Given the description of an element on the screen output the (x, y) to click on. 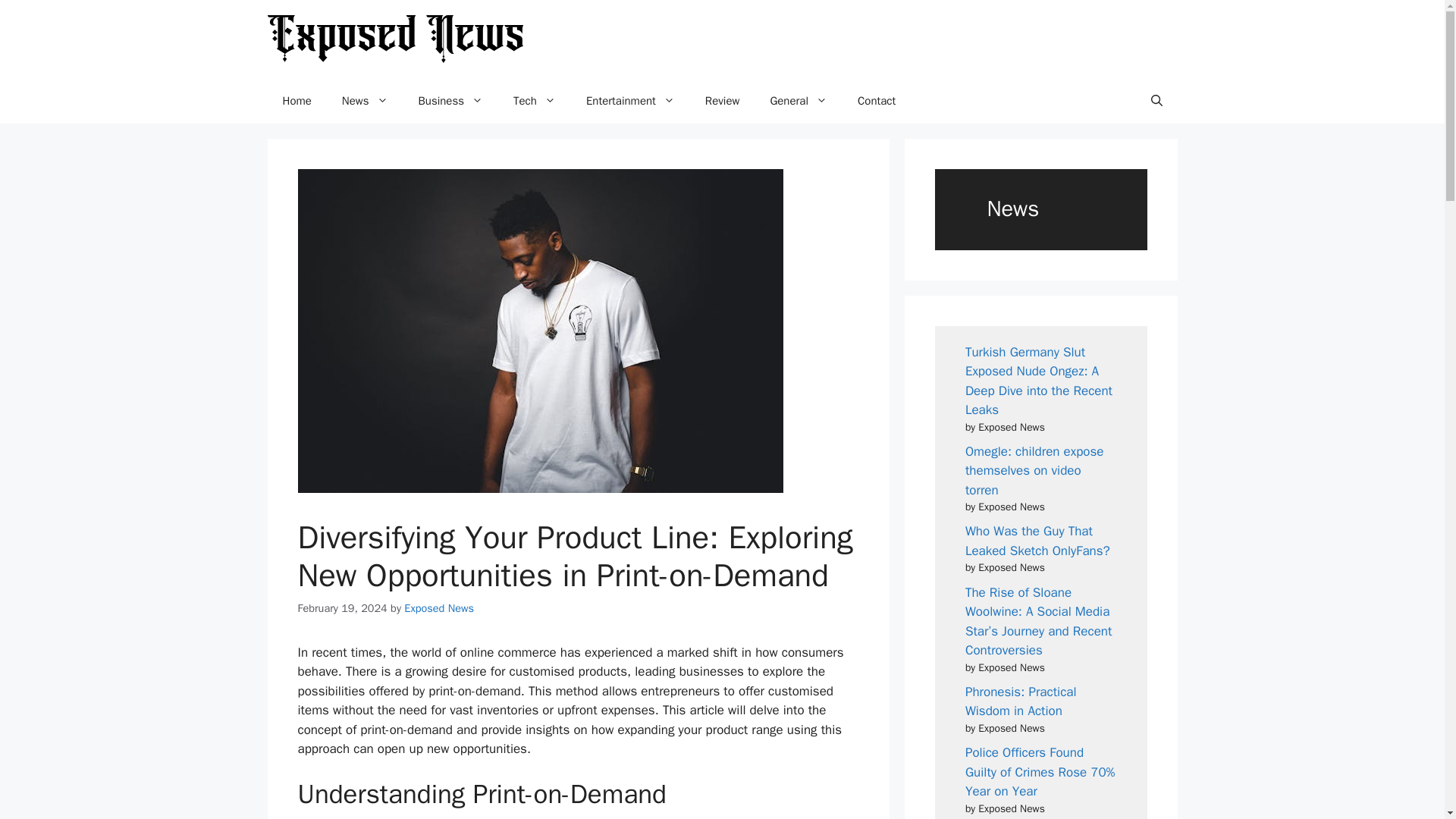
Contact (877, 100)
Phronesis: Practical Wisdom in Action (1021, 701)
View all posts by Exposed News (439, 608)
News (364, 100)
Entertainment (630, 100)
Exposed News (439, 608)
Business (451, 100)
General (798, 100)
Tech (533, 100)
